Given the description of an element on the screen output the (x, y) to click on. 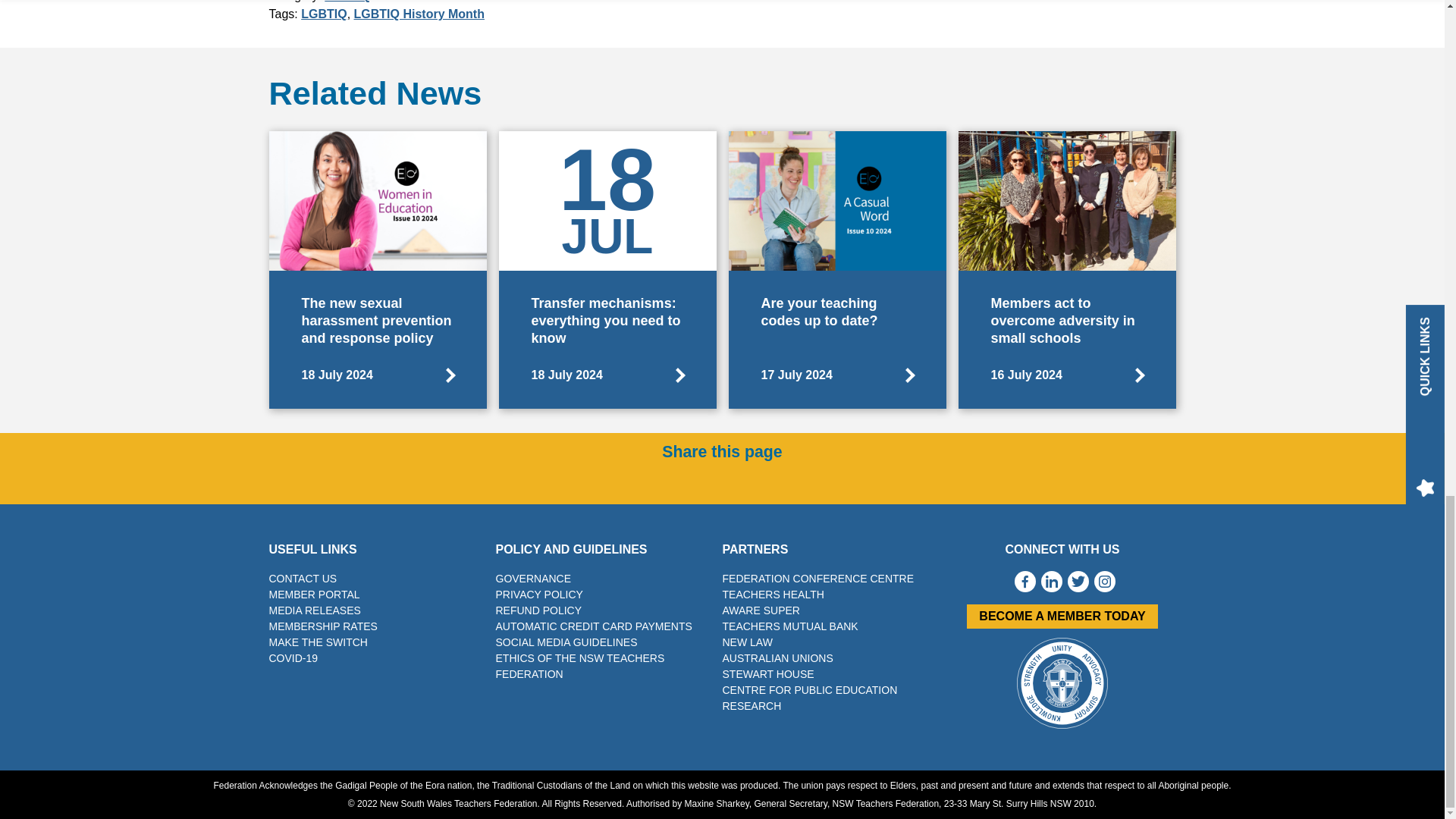
Email (748, 480)
Facebook (694, 480)
Twitter (721, 480)
